Given the description of an element on the screen output the (x, y) to click on. 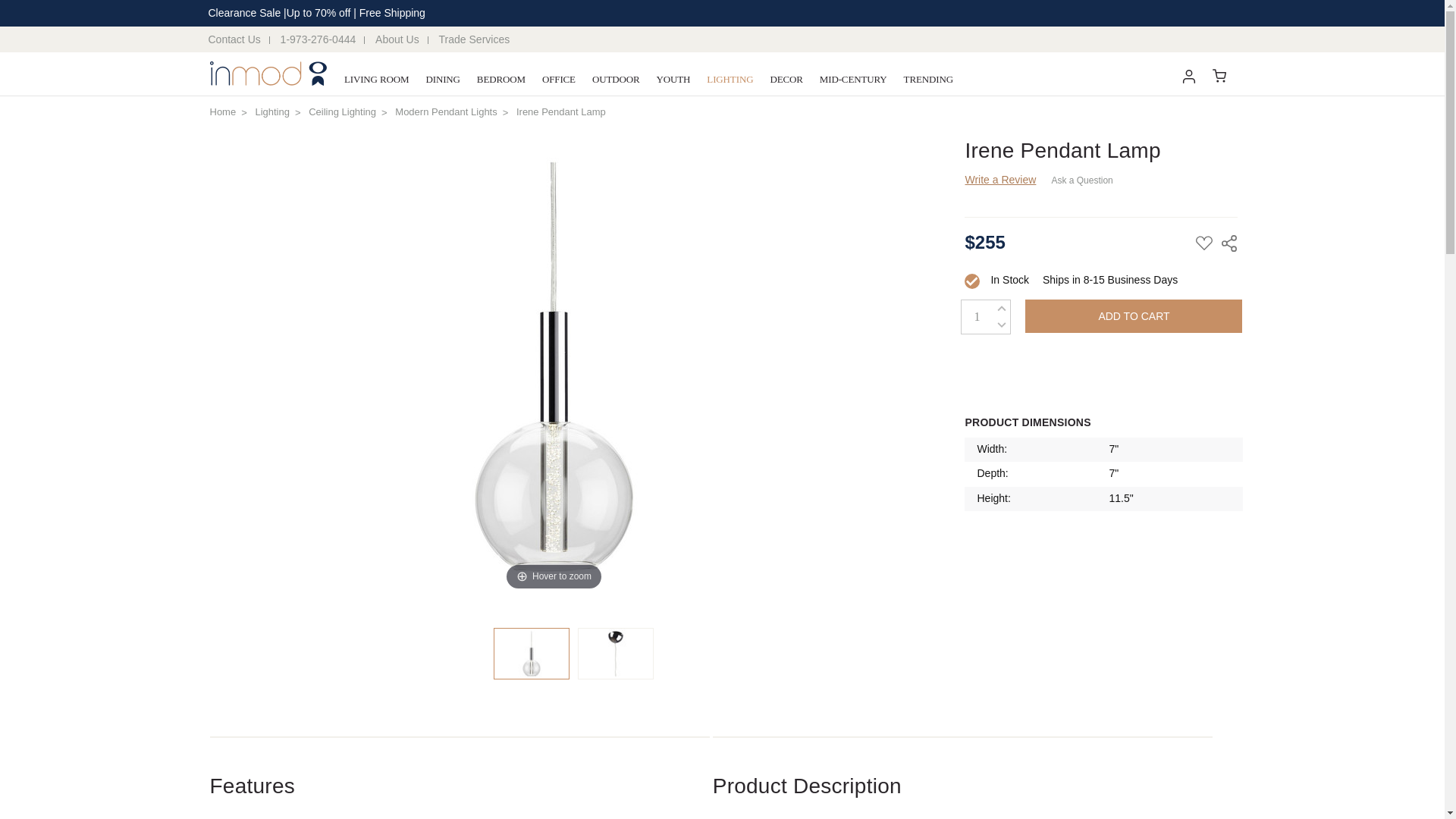
Contact Us (237, 39)
About Us (397, 39)
About Us (397, 39)
1-973-276-0444 (318, 39)
Inmod (267, 73)
Show All (352, 79)
Add to Cart (1133, 315)
1 (976, 316)
Trade Services (474, 39)
Call Us (318, 39)
DINING (441, 79)
LIVING ROOM (376, 79)
Contact Us (237, 39)
Trade Services (474, 39)
